Given the description of an element on the screen output the (x, y) to click on. 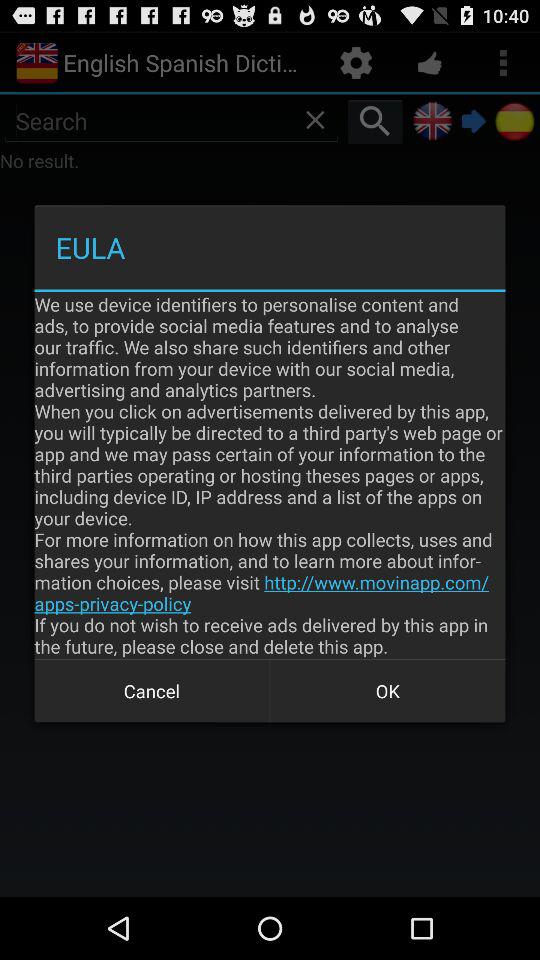
swipe until we use device (269, 475)
